Given the description of an element on the screen output the (x, y) to click on. 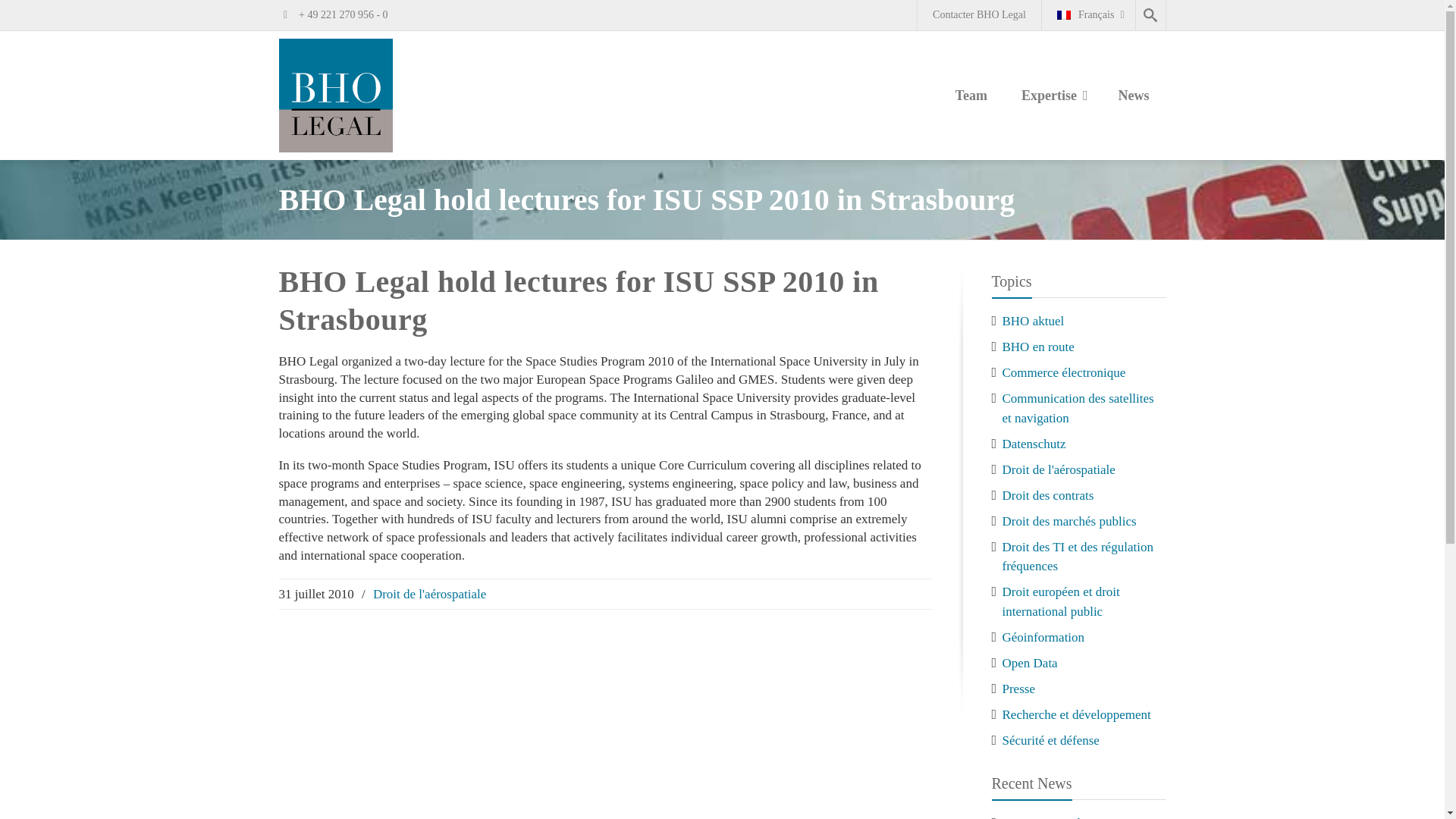
Open Data (1030, 662)
Contacter BHO Legal (979, 15)
BHO en route (1038, 346)
BHO aktuel (1033, 320)
Team (971, 96)
News (1133, 96)
Presse (1019, 687)
Expertise (1052, 96)
Datenschutz (1034, 443)
Communication des satellites et navigation (1078, 408)
Droit des contrats (1048, 495)
